Given the description of an element on the screen output the (x, y) to click on. 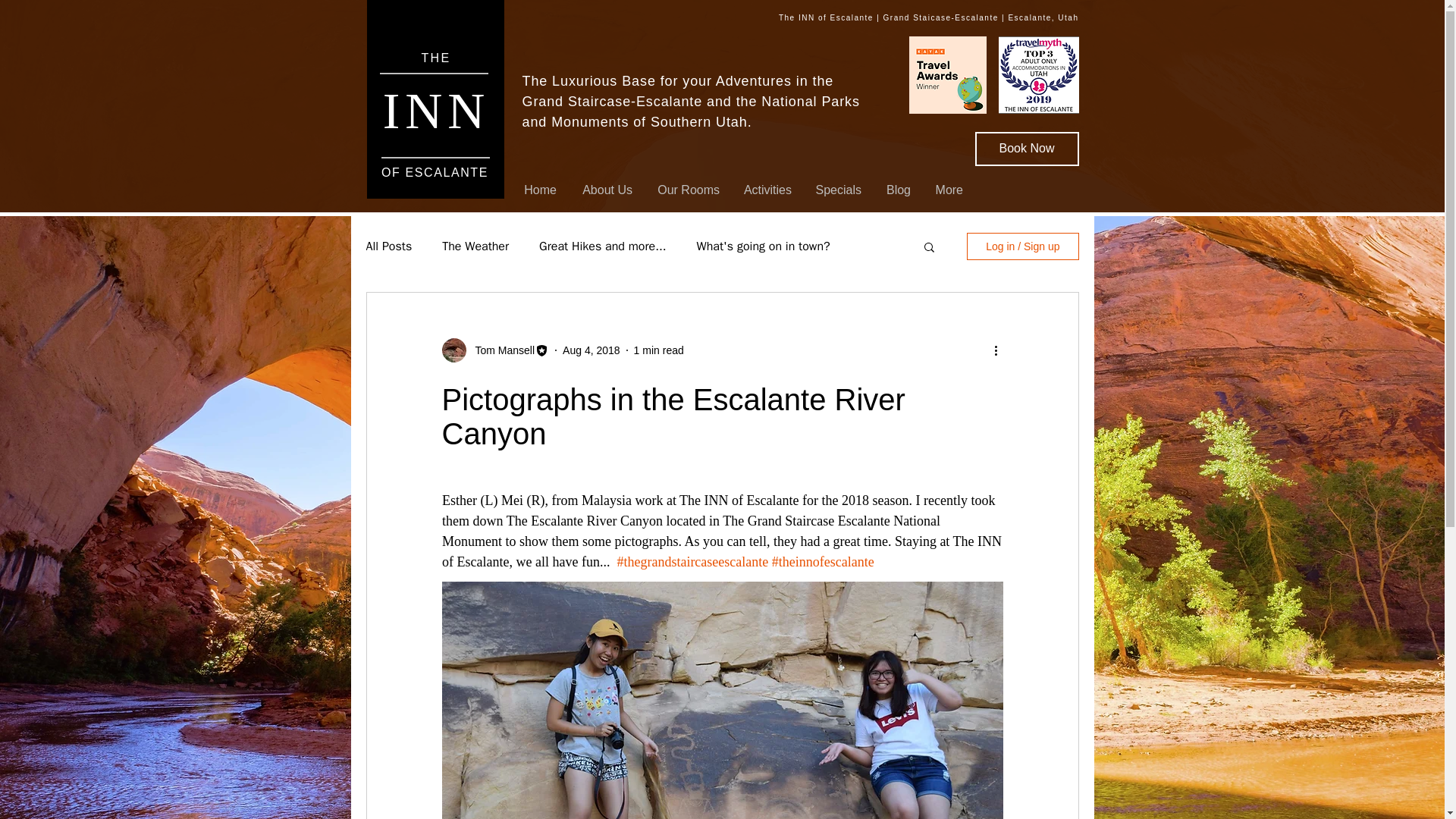
Blog (896, 190)
Activities (766, 190)
Specials (837, 190)
1 min read (658, 349)
Home (539, 190)
OF ESCALANTE (434, 172)
All Posts (388, 245)
What's going on in town? (763, 245)
THE (434, 57)
About Us (605, 190)
Tom Mansell (499, 350)
The Weather (475, 245)
Aug 4, 2018 (591, 349)
Great Hikes and more... (601, 245)
INN (435, 109)
